Given the description of an element on the screen output the (x, y) to click on. 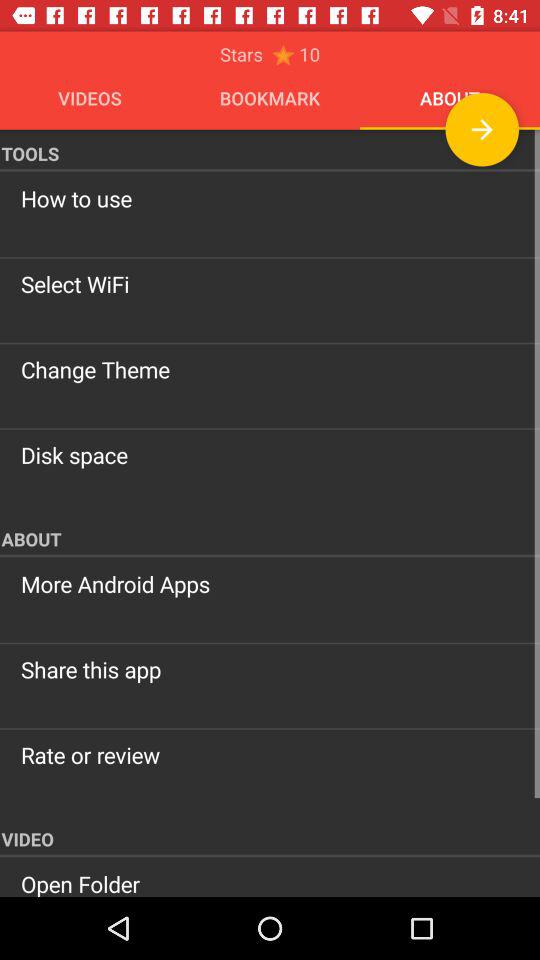
launch the icon to the right of the bookmark item (482, 129)
